Given the description of an element on the screen output the (x, y) to click on. 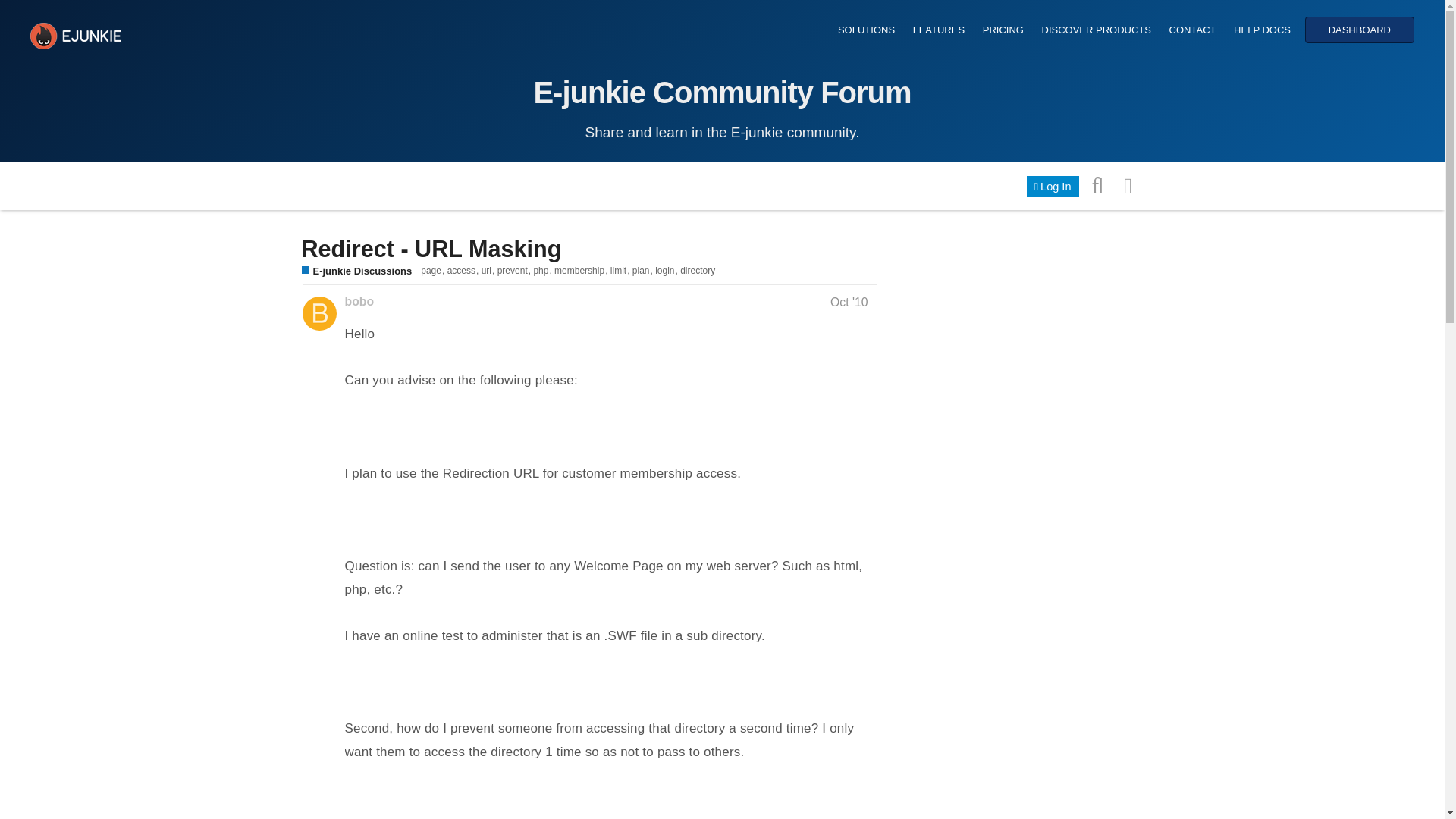
PRICING (1002, 29)
access (463, 270)
prevent (515, 270)
login (667, 270)
FEATURES (938, 29)
search topics, posts, users, or categories (1098, 184)
url (489, 270)
Redirect - URL Masking (431, 248)
php (543, 270)
